Given the description of an element on the screen output the (x, y) to click on. 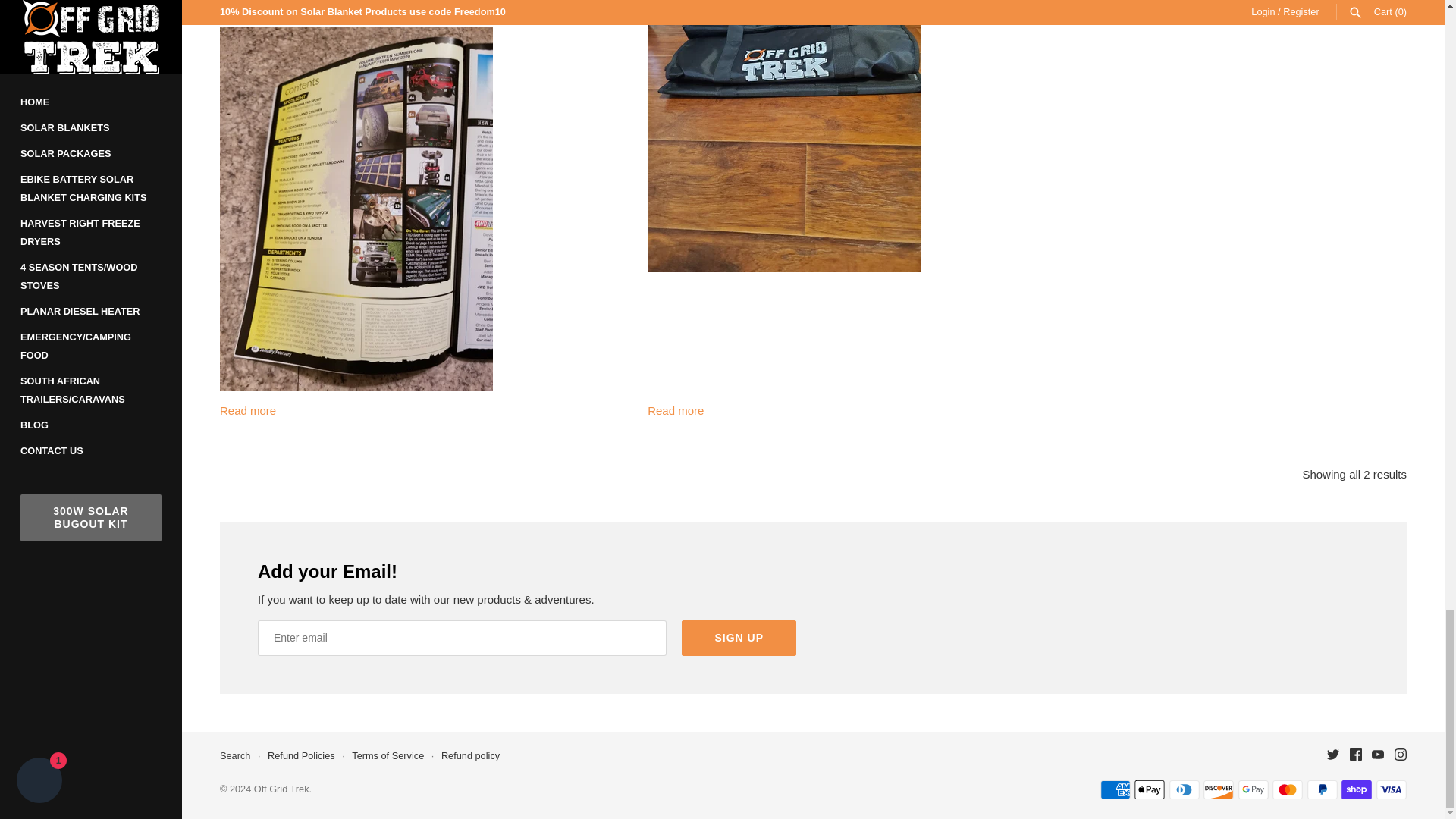
Diners Club (1184, 789)
Google Pay (1253, 789)
Facebook (1355, 754)
Instagram (1400, 754)
Twitter (1332, 754)
Shop Pay (1355, 789)
Apple Pay (1149, 789)
Youtube (1377, 754)
PayPal (1322, 789)
American Express (1115, 789)
Mastercard (1287, 789)
Discover (1218, 789)
